Given the description of an element on the screen output the (x, y) to click on. 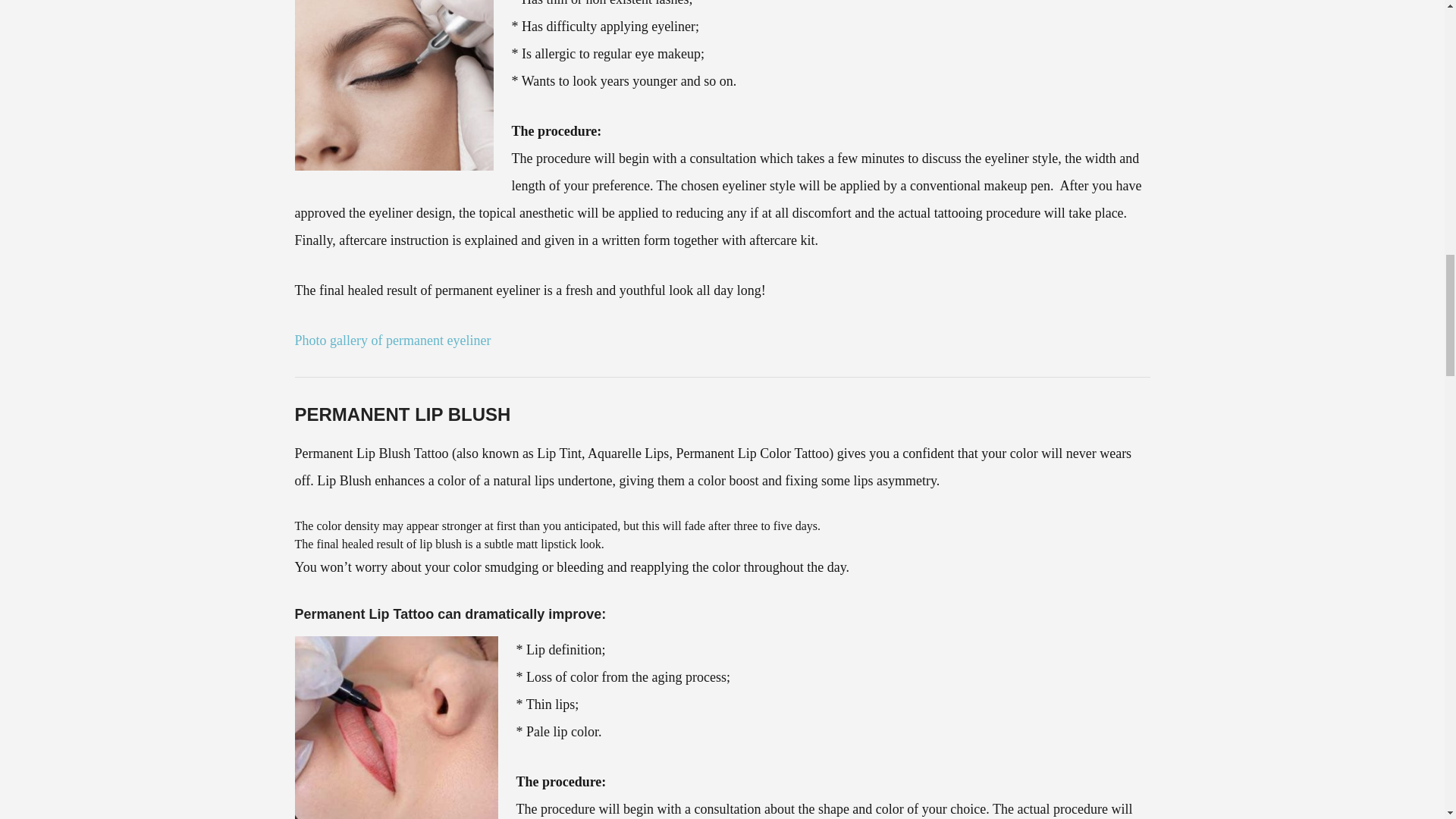
Photo gallery of permanent eyeliner (392, 340)
